Given the description of an element on the screen output the (x, y) to click on. 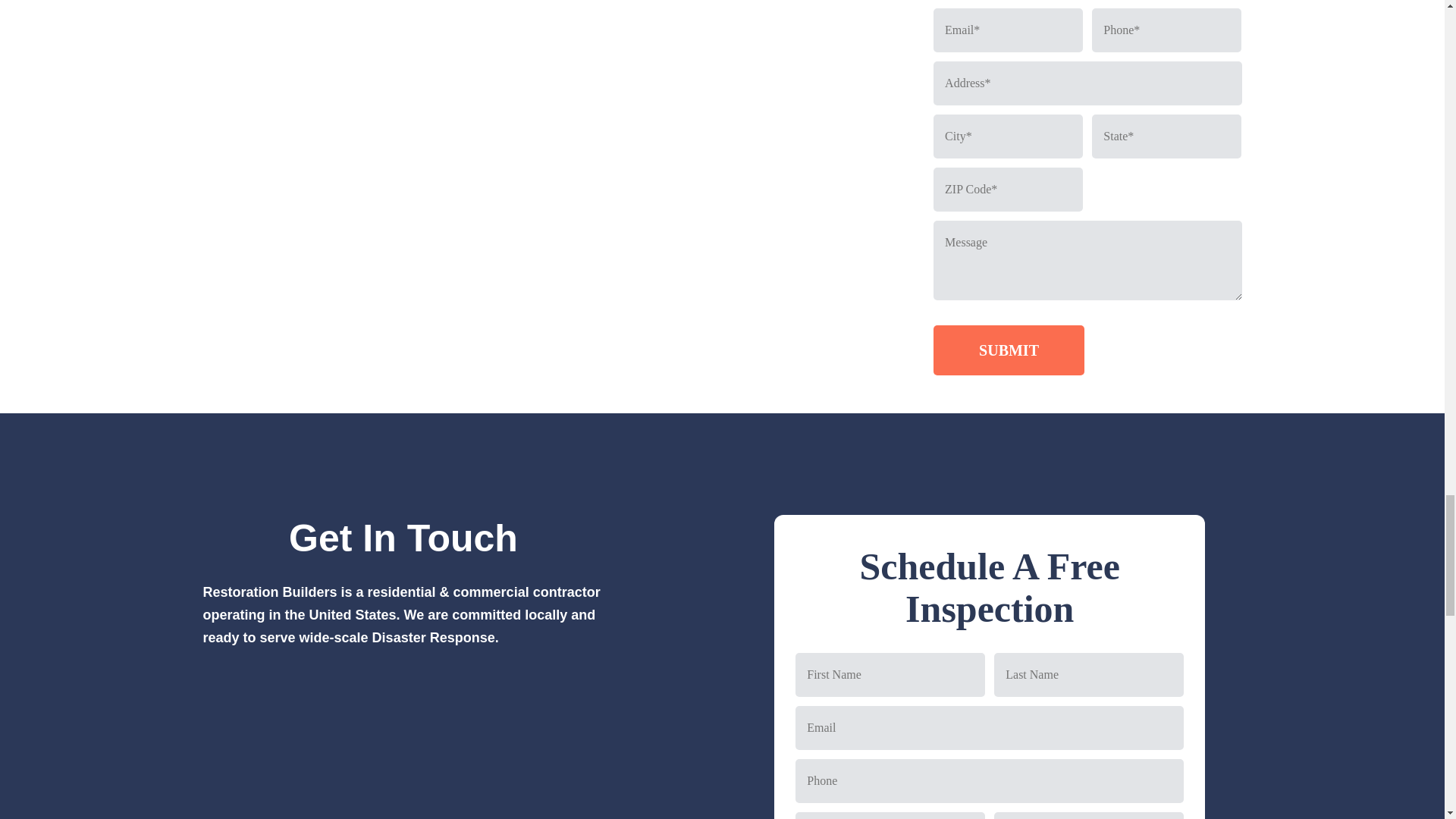
Submit (1008, 350)
